Given the description of an element on the screen output the (x, y) to click on. 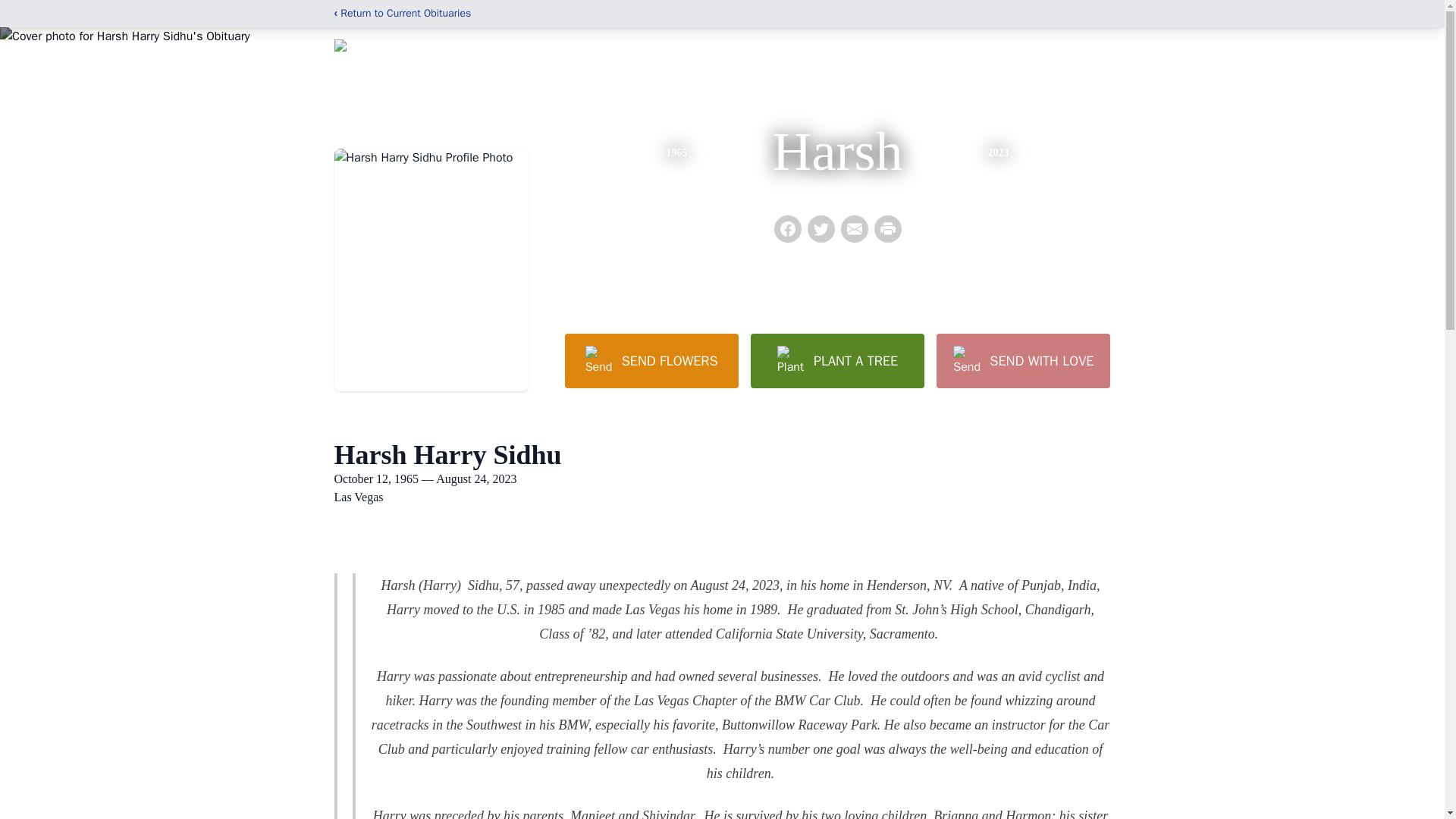
SEND FLOWERS (651, 360)
PLANT A TREE (837, 360)
SEND WITH LOVE (1022, 360)
